Given the description of an element on the screen output the (x, y) to click on. 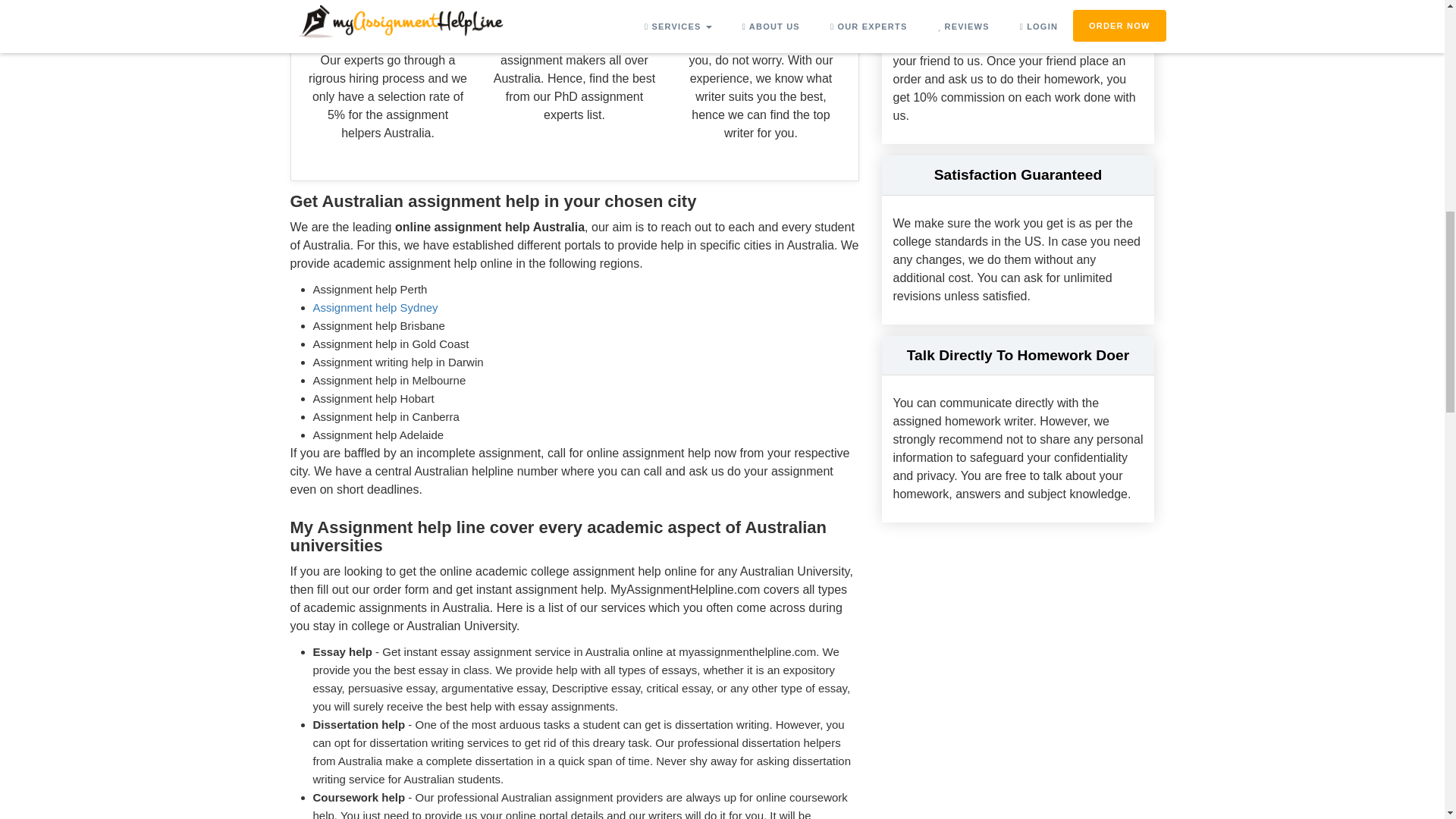
Assignment help Sydney (375, 307)
